Given the description of an element on the screen output the (x, y) to click on. 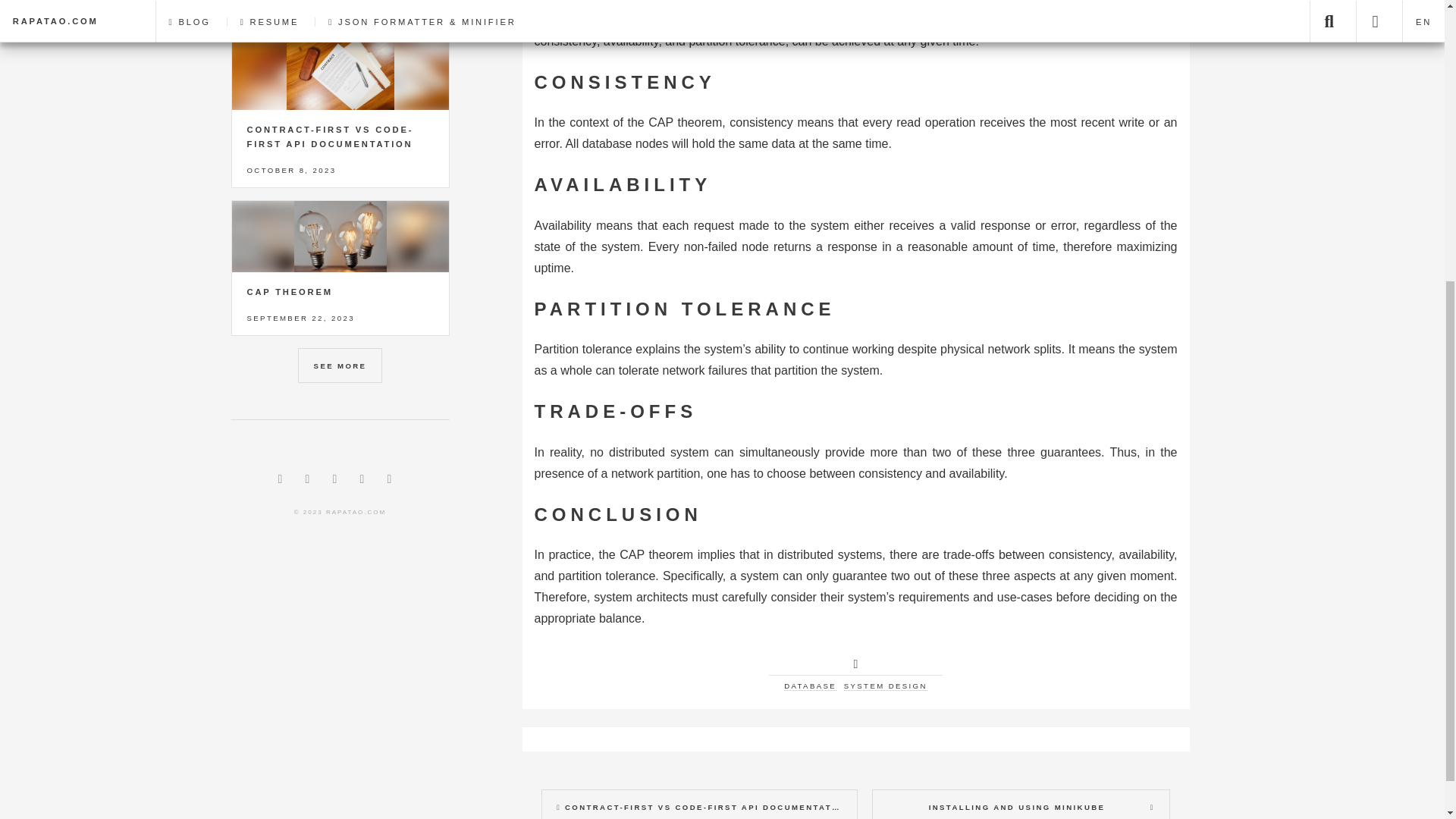
SYSTEM DESIGN (885, 686)
DATABASE (809, 686)
CONTRACT-FIRST VS CODE-FIRST API DOCUMENTATION (330, 136)
CAP THEOREM (290, 291)
